Given the description of an element on the screen output the (x, y) to click on. 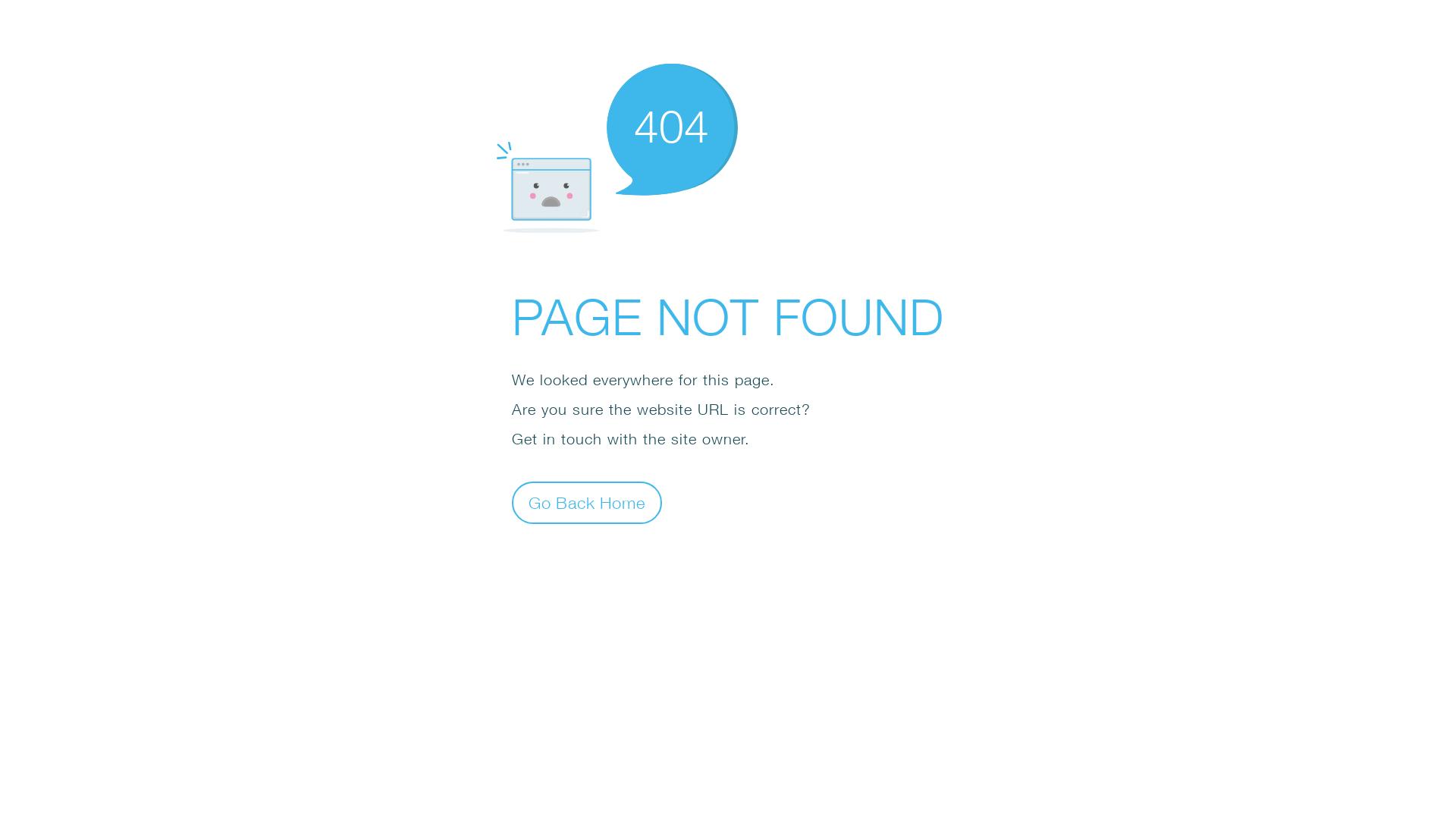
Go Back Home Element type: text (586, 502)
